Given the description of an element on the screen output the (x, y) to click on. 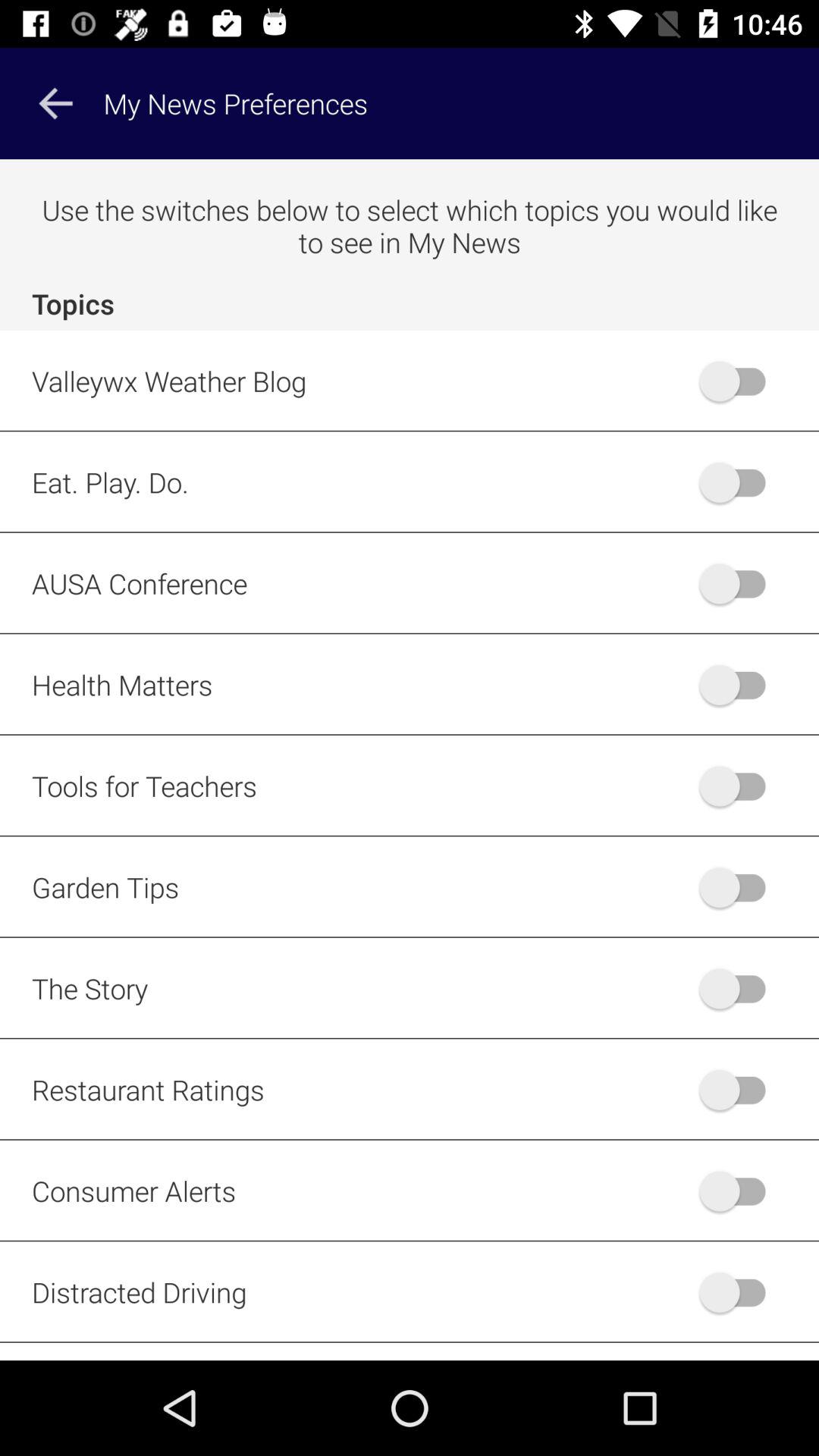
toggle health matters (739, 684)
